Given the description of an element on the screen output the (x, y) to click on. 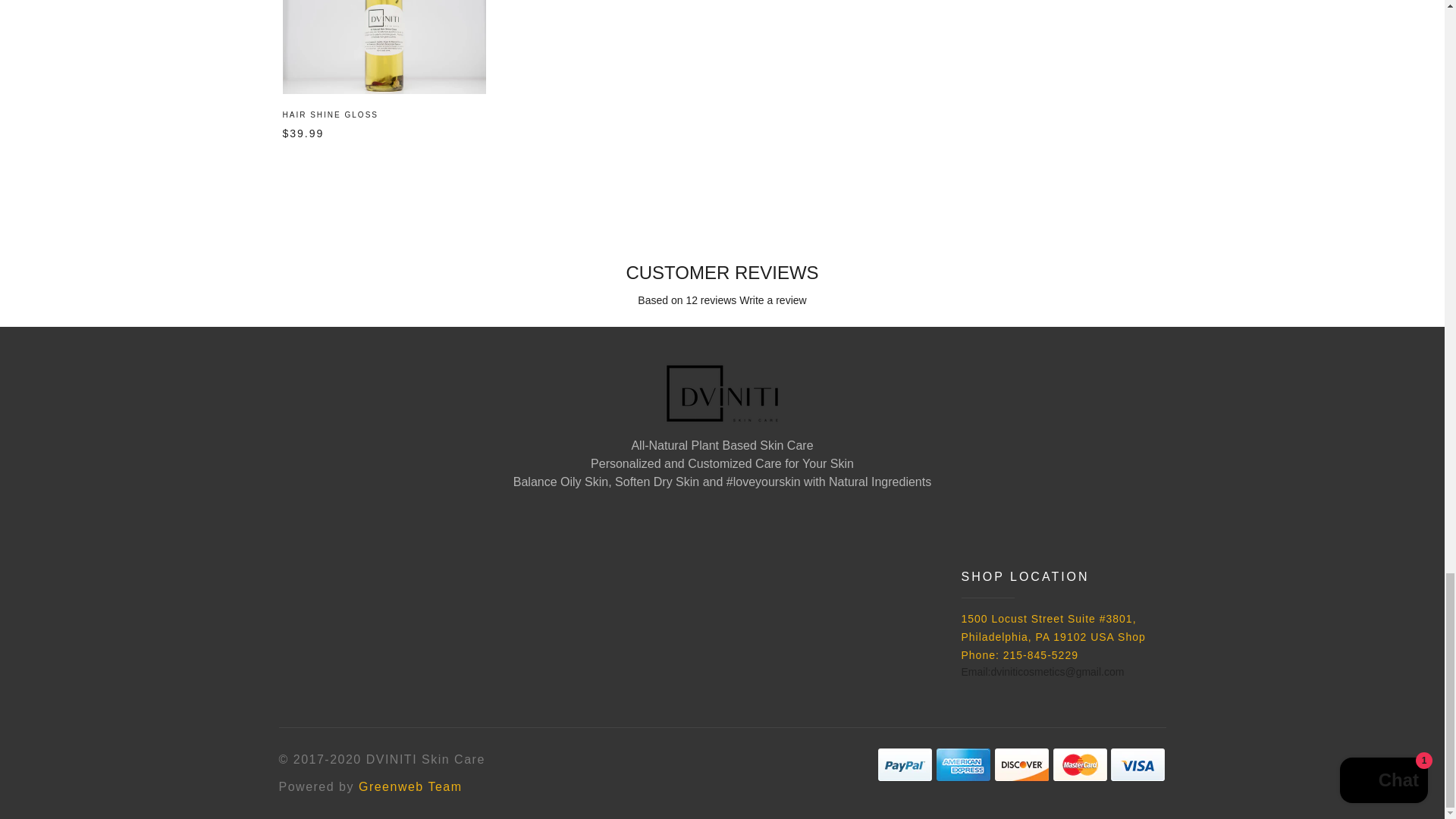
Hair Shine Gloss (383, 47)
